Given the description of an element on the screen output the (x, y) to click on. 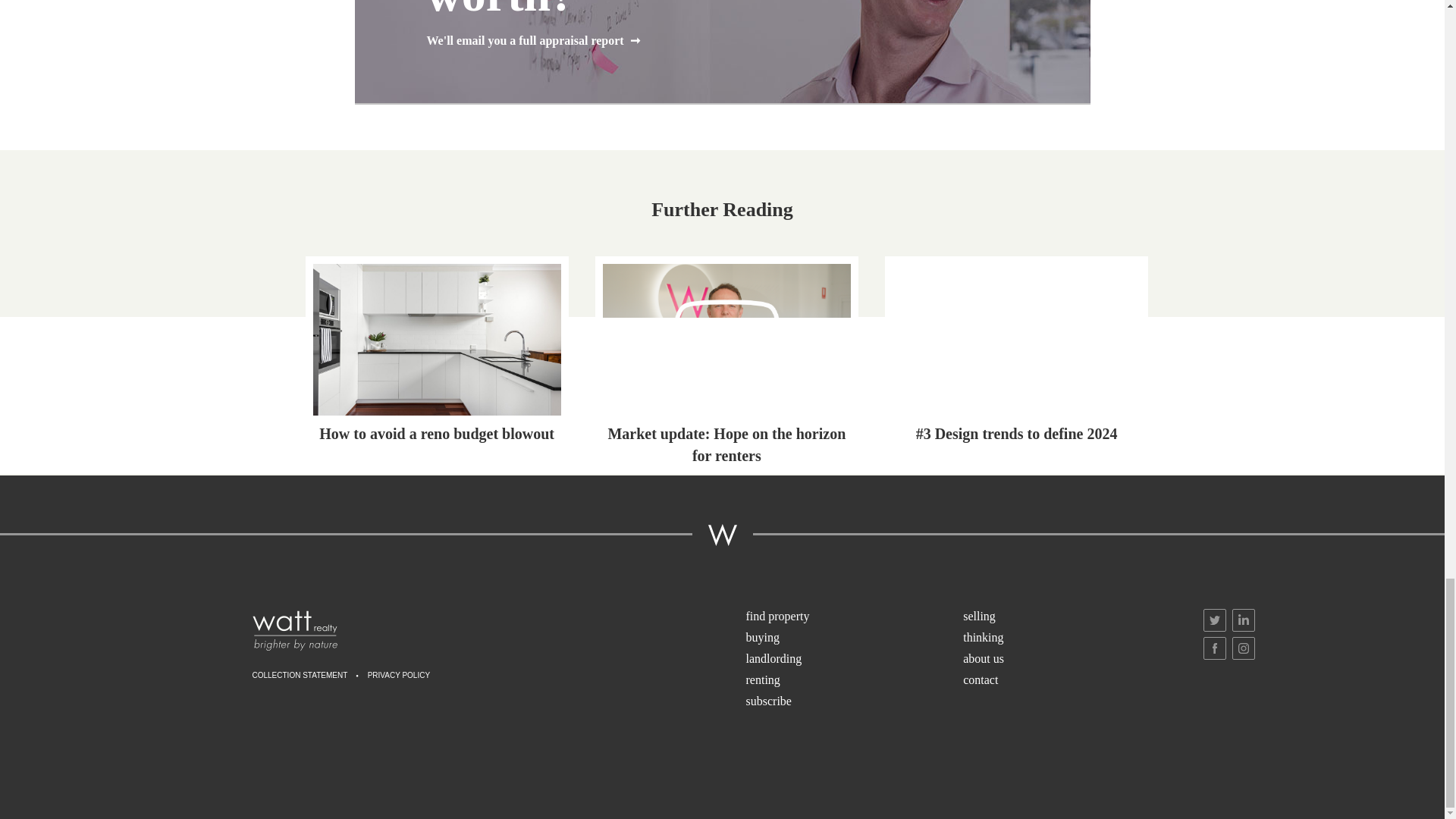
Market update: Hope on the horizon for renters (726, 364)
find property (852, 617)
landlording (852, 659)
about us (1069, 659)
COLLECTION STATEMENT (300, 676)
renting (852, 680)
PRIVACY POLICY (398, 676)
How to avoid a reno budget blowout (436, 354)
subscribe (852, 701)
thinking (1069, 638)
